Given the description of an element on the screen output the (x, y) to click on. 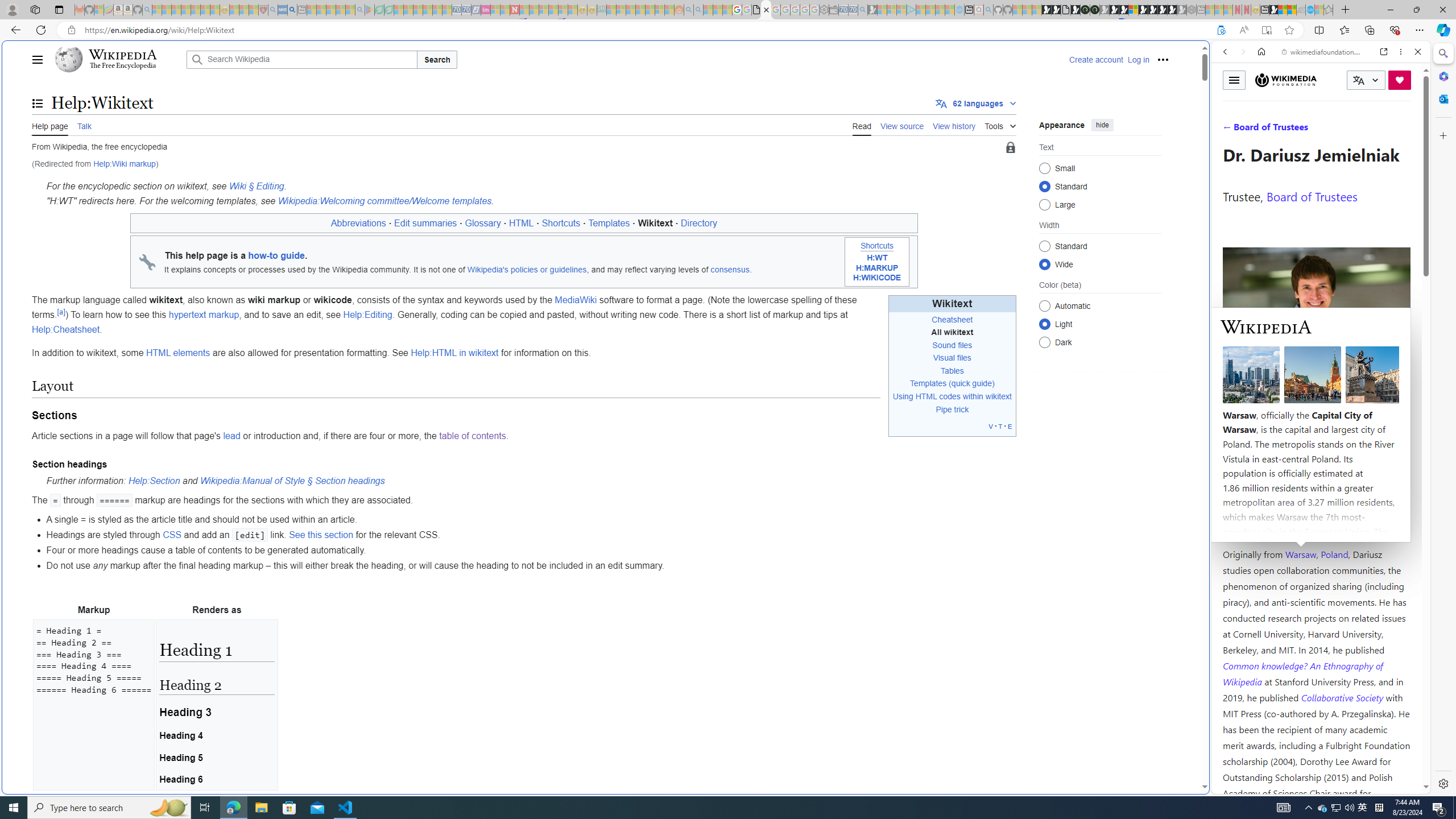
consensus (729, 269)
H:MARKUP (877, 267)
View history (954, 124)
